Given the description of an element on the screen output the (x, y) to click on. 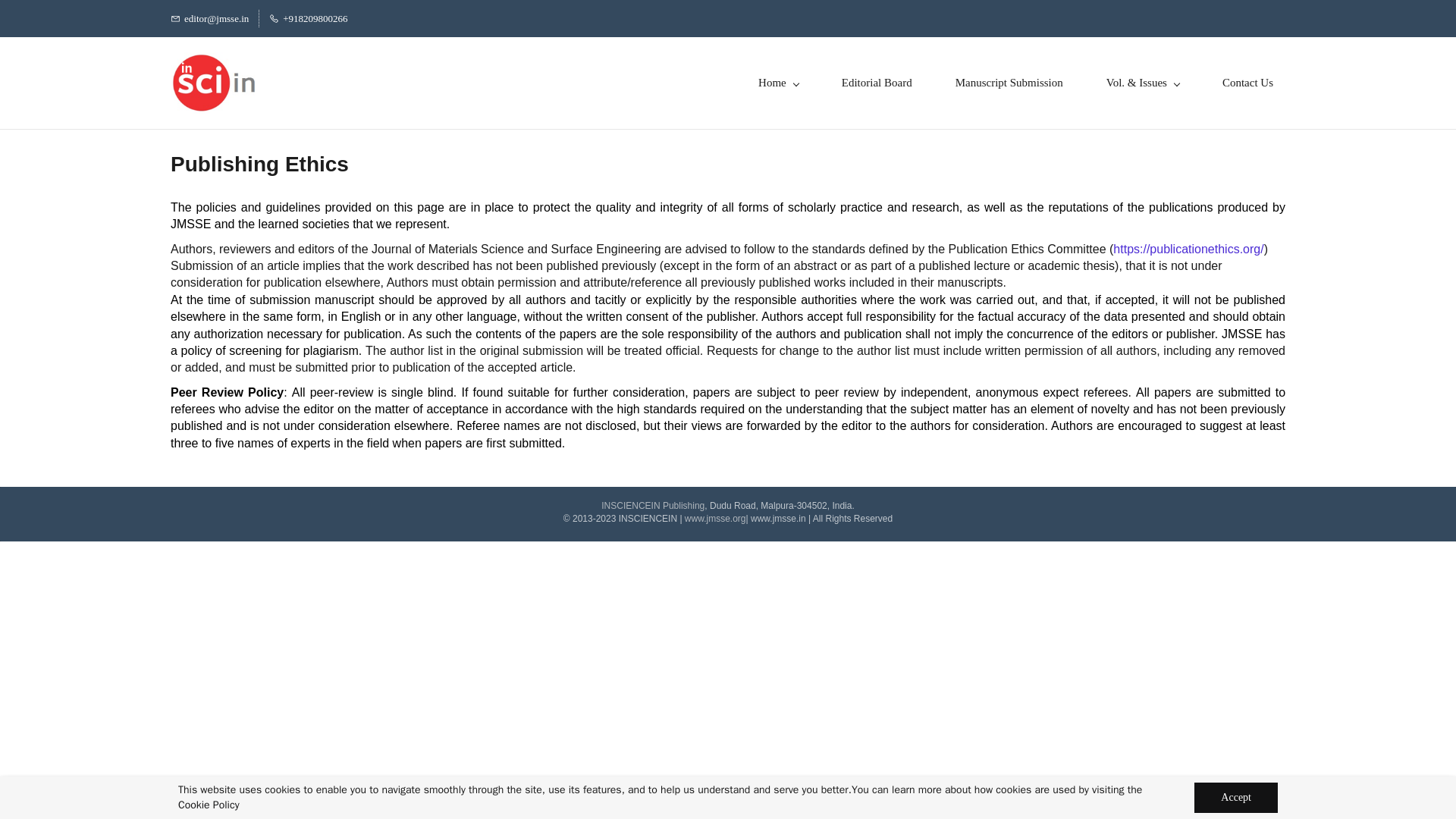
www.jmsse.in (778, 518)
Home (777, 83)
Science IN Publishing (652, 505)
Editorial Board (876, 83)
Manuscript Submission (1009, 83)
www.jmsse.org (714, 518)
